Given the description of an element on the screen output the (x, y) to click on. 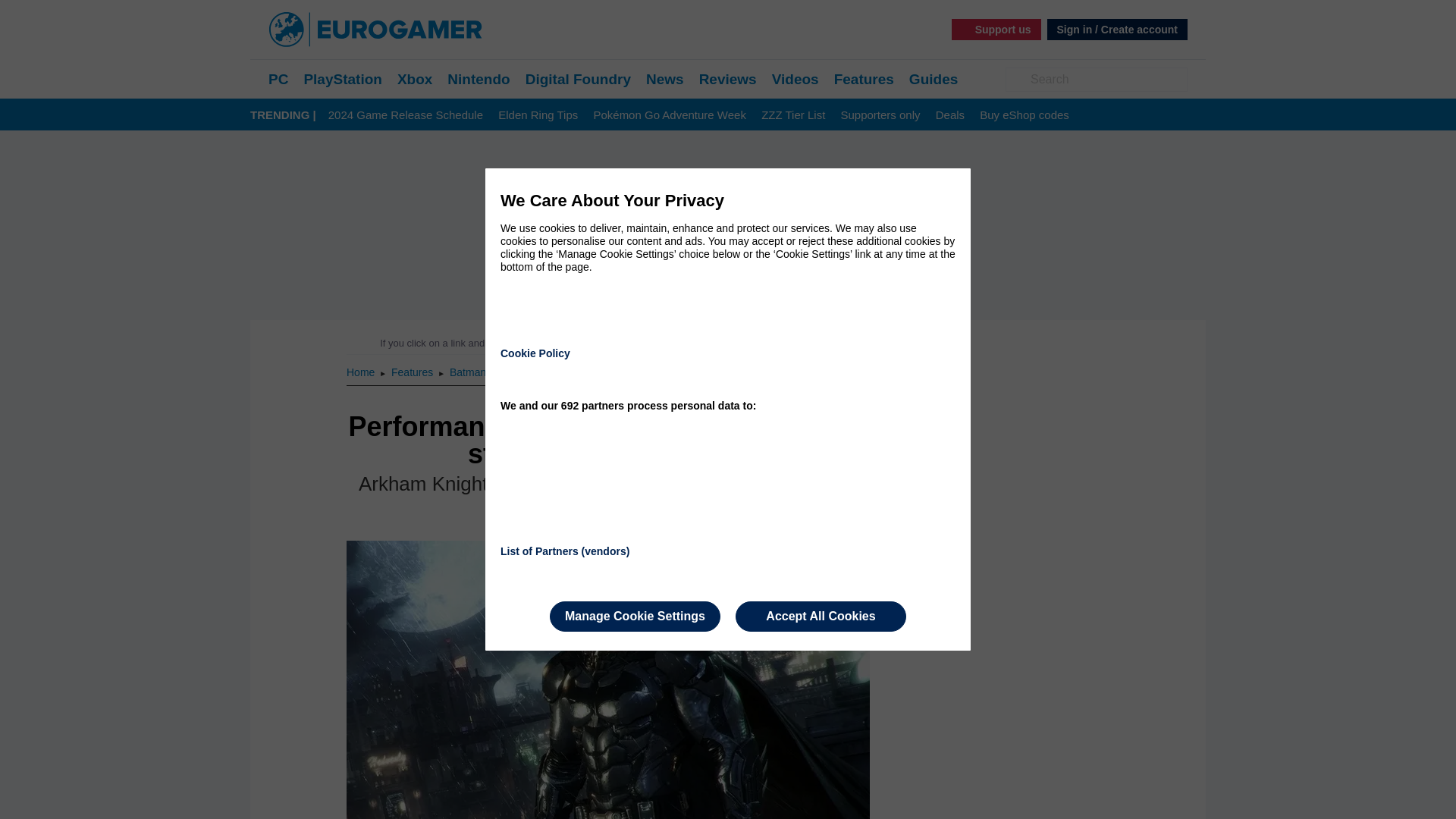
Supporters only (880, 114)
Digital Foundry (577, 78)
Nintendo (477, 78)
2024 Game Release Schedule (406, 114)
Supporters only (880, 114)
Videos (794, 78)
Xbox (414, 78)
Reviews (727, 78)
Deals (949, 114)
Buy eShop codes (1023, 114)
